Given the description of an element on the screen output the (x, y) to click on. 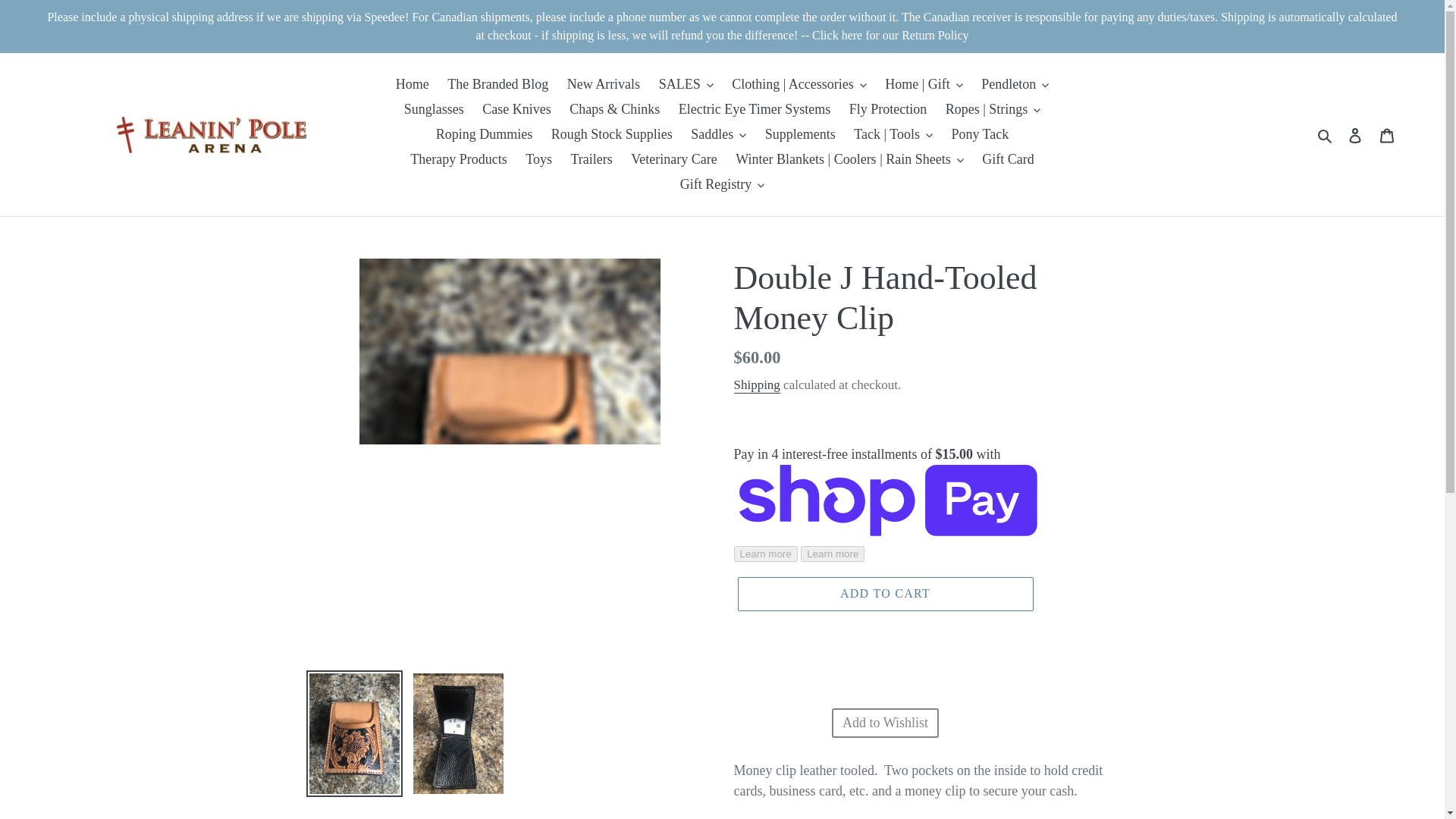
SALES (685, 84)
New Arrivals (603, 84)
The Branded Blog (497, 84)
Home (412, 84)
